Given the description of an element on the screen output the (x, y) to click on. 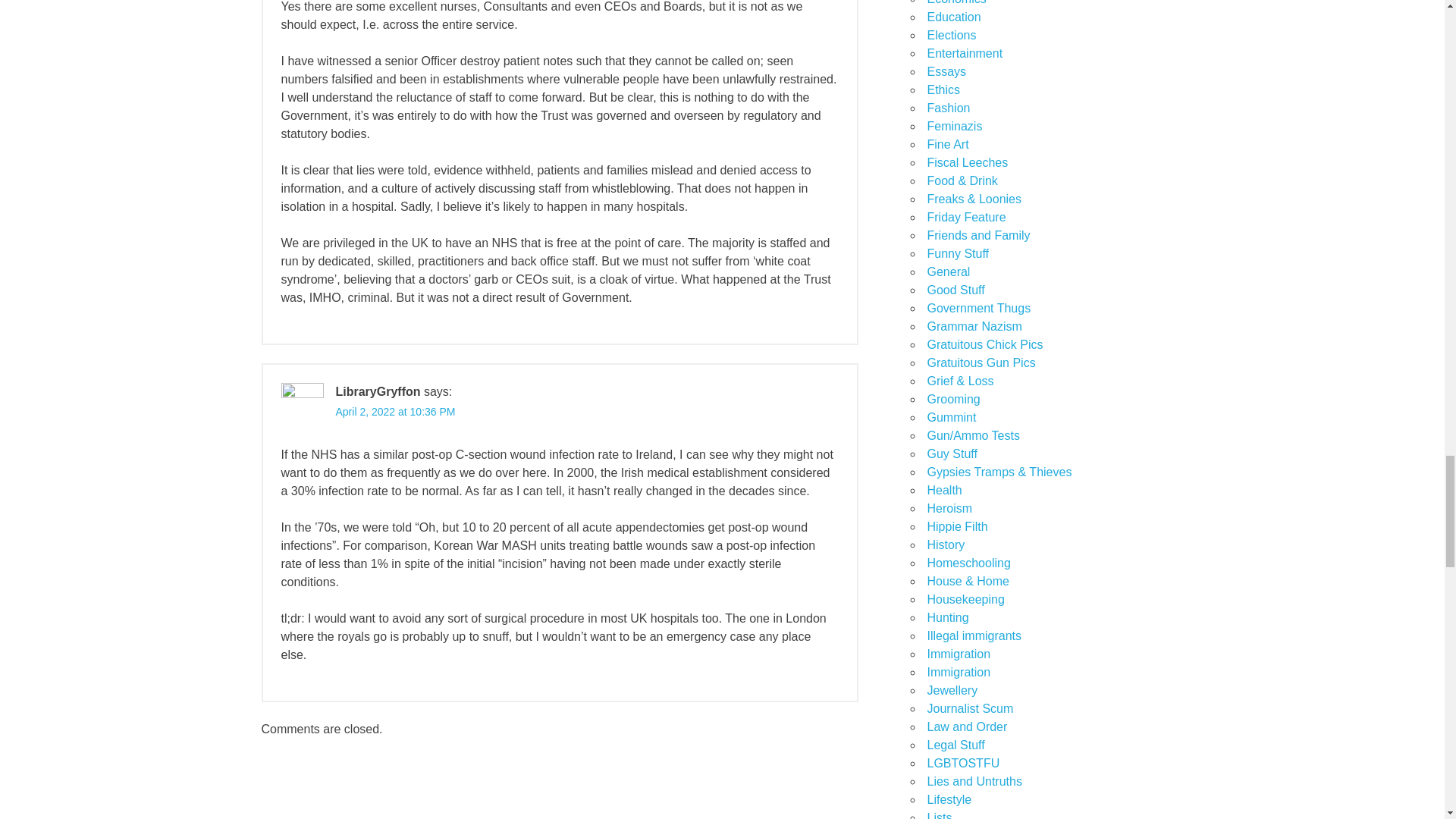
Things that make men go "Oooooh!" (951, 453)
April 2, 2022 at 10:36 PM (394, 411)
